Given the description of an element on the screen output the (x, y) to click on. 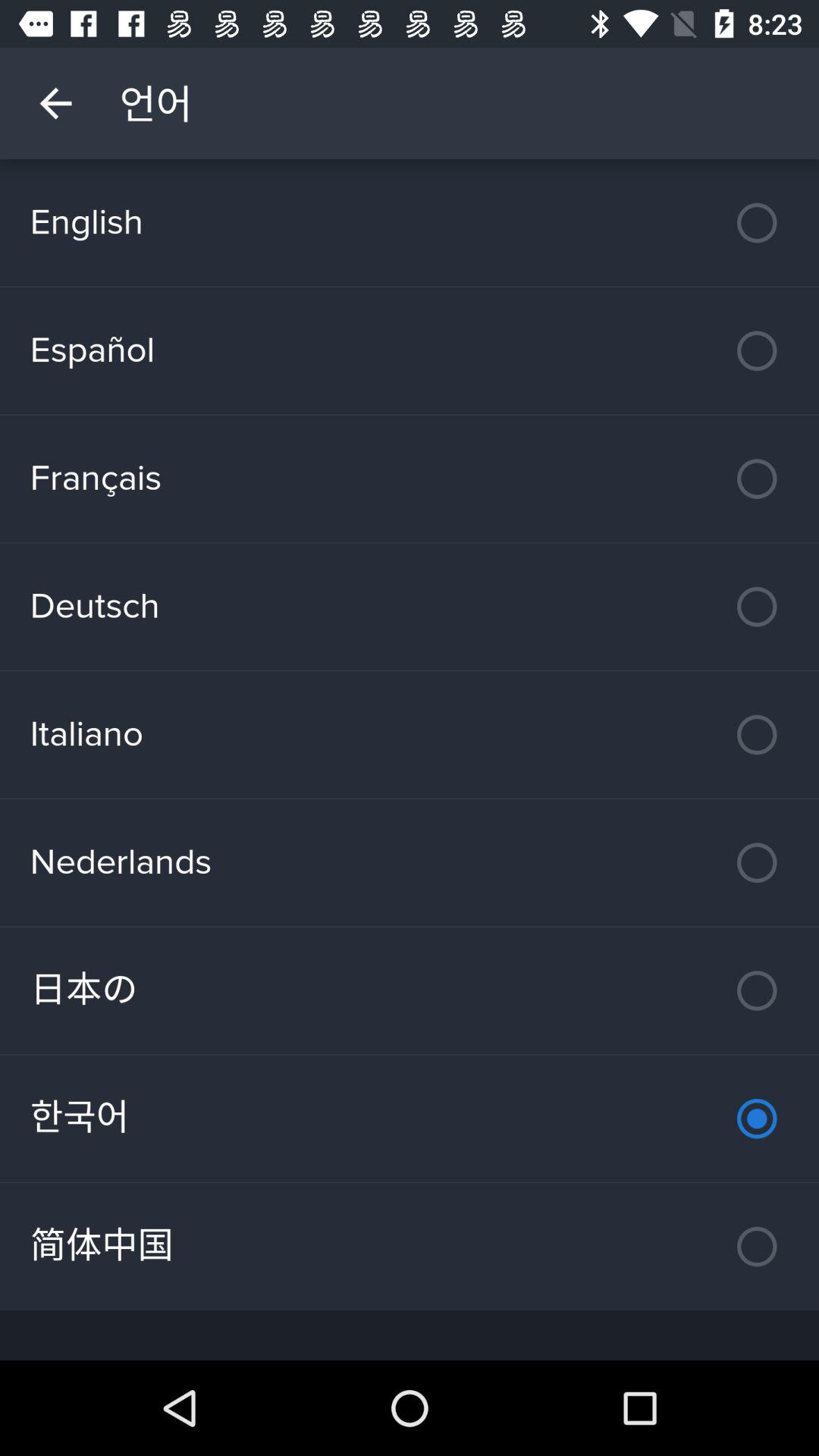
jump to the nederlands item (409, 862)
